Given the description of an element on the screen output the (x, y) to click on. 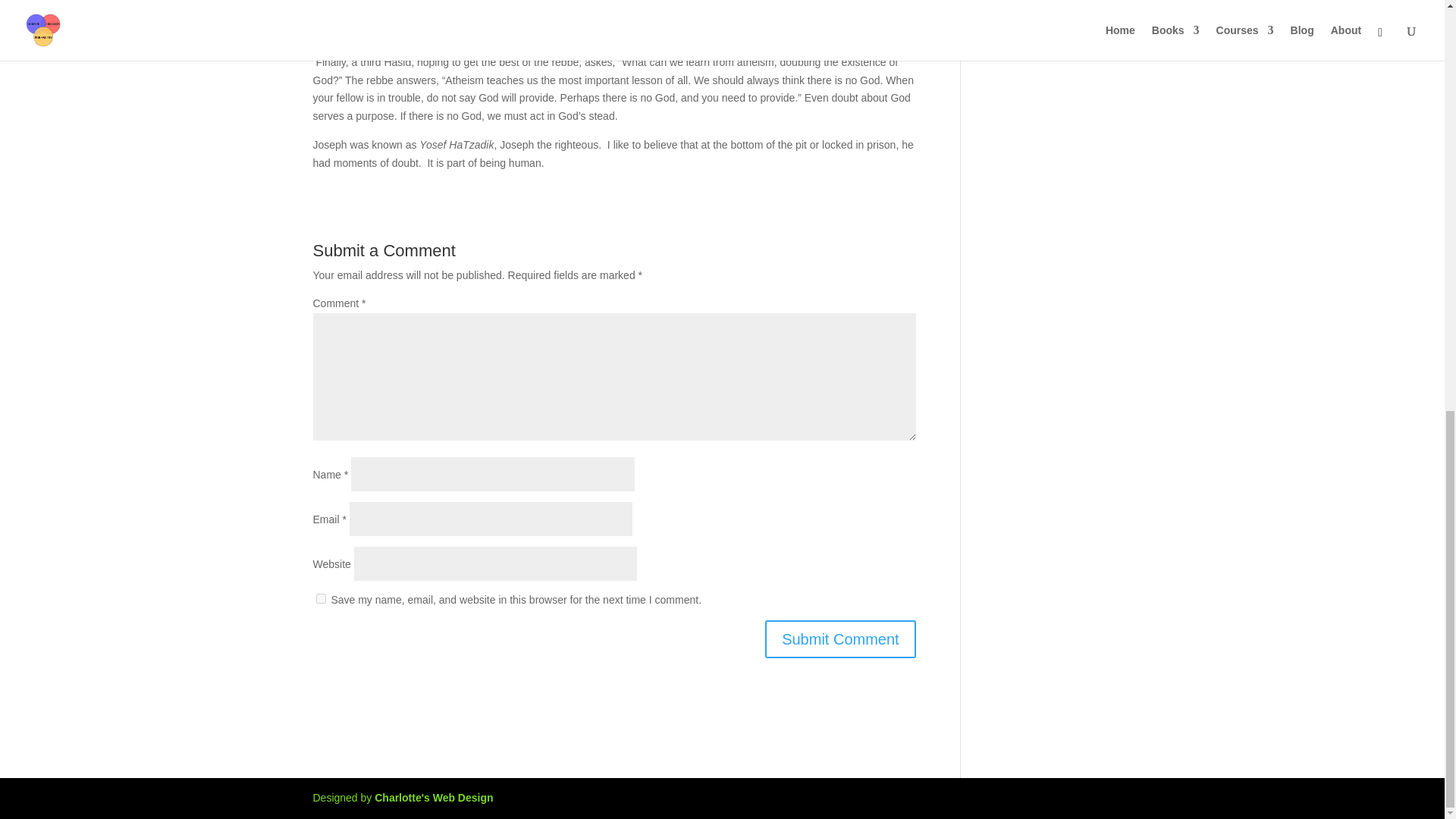
Submit Comment (840, 638)
Submit Comment (840, 638)
Charlotte's Web Design (433, 797)
yes (319, 598)
